Given the description of an element on the screen output the (x, y) to click on. 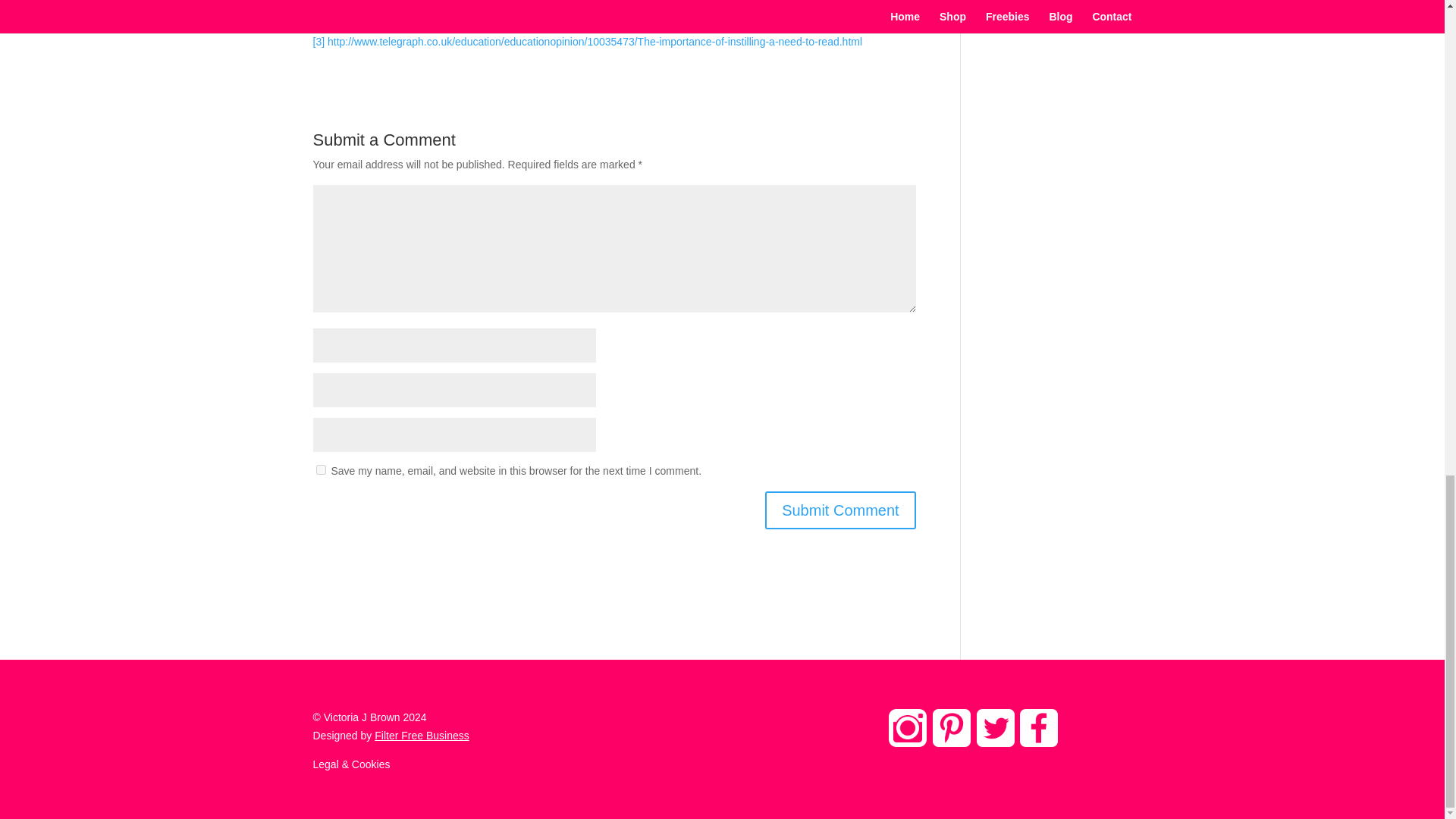
yes (319, 470)
Submit Comment (840, 510)
Submit Comment (840, 510)
